Given the description of an element on the screen output the (x, y) to click on. 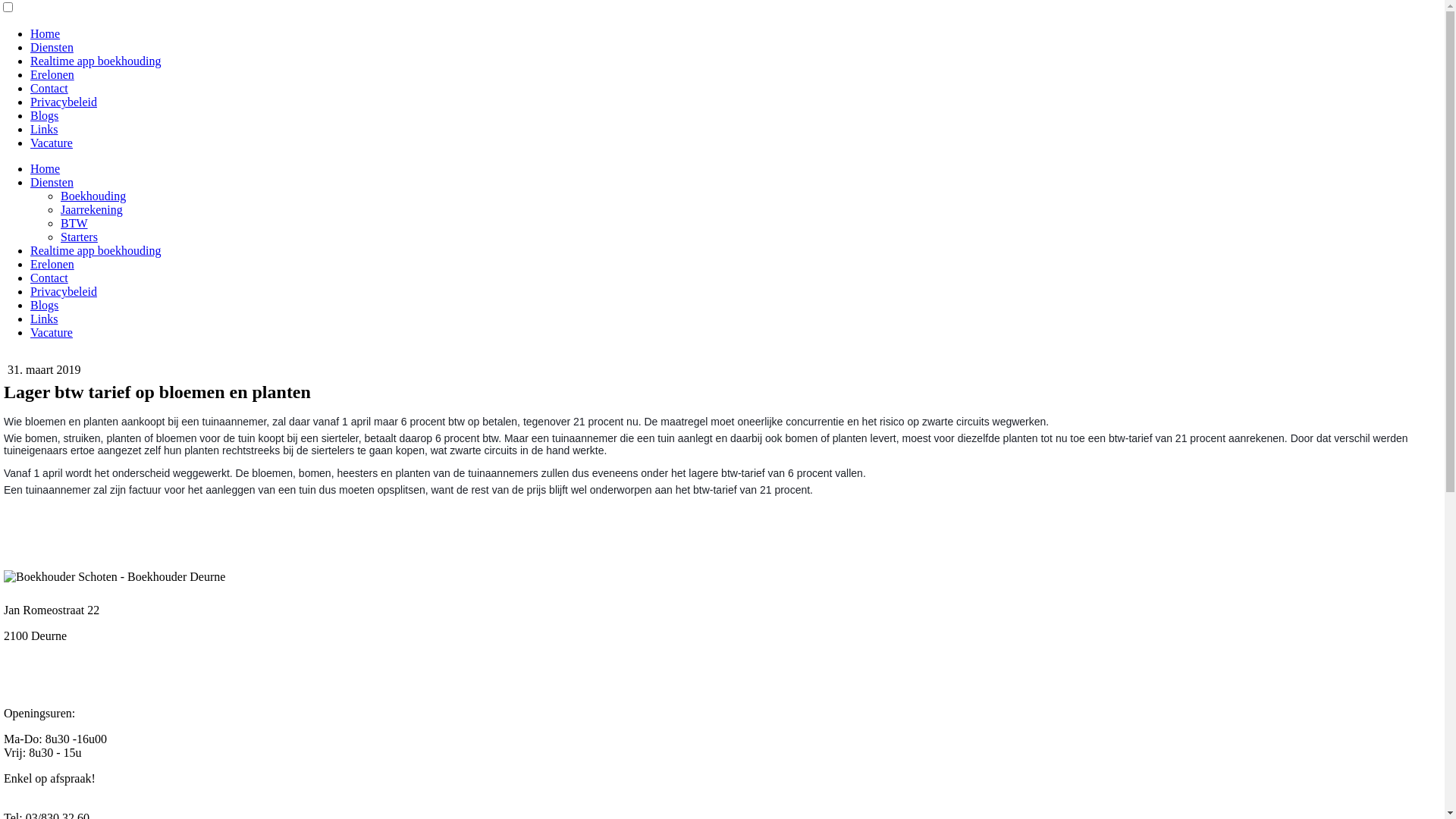
Erelonen Element type: text (52, 263)
Contact Element type: text (49, 277)
Privacybeleid Element type: text (63, 101)
Starters Element type: text (78, 236)
Home Element type: text (44, 33)
Privacybeleid Element type: text (63, 291)
Vacature Element type: text (51, 142)
Blogs Element type: text (44, 304)
Boekhouding Element type: text (92, 195)
Contact Element type: text (49, 87)
Home Element type: text (44, 168)
Blogs Element type: text (44, 115)
BTW Element type: text (73, 222)
Diensten Element type: text (51, 181)
Jaarrekening Element type: text (91, 209)
Vacature Element type: text (51, 332)
Erelonen Element type: text (52, 74)
Links Element type: text (43, 318)
Realtime app boekhouding Element type: text (95, 60)
Links Element type: text (43, 128)
Realtime app boekhouding Element type: text (95, 250)
Diensten Element type: text (51, 46)
